Given the description of an element on the screen output the (x, y) to click on. 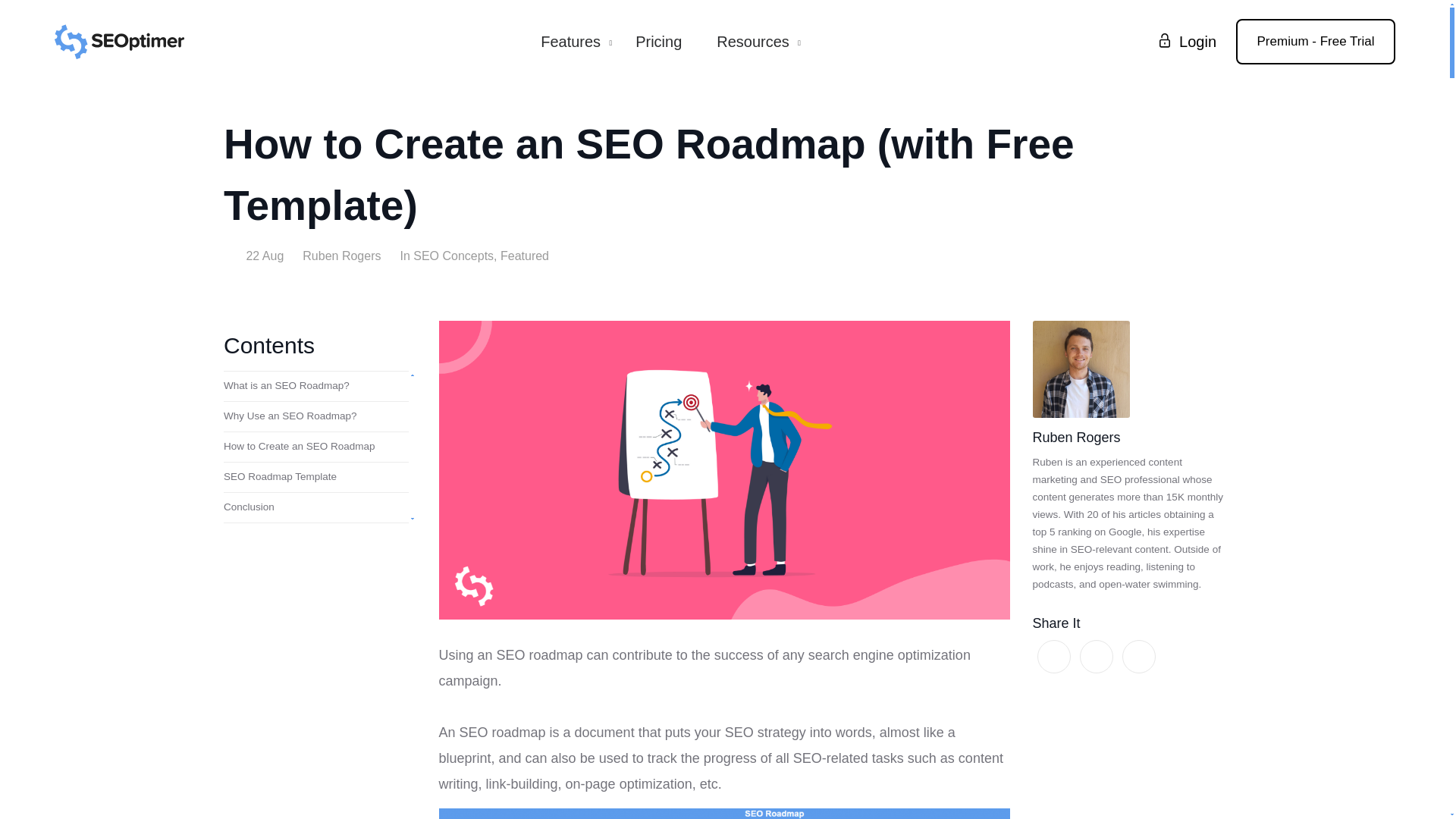
SEO Concepts (453, 256)
Pricing (657, 41)
Features (569, 41)
Premium - Free Trial (1315, 41)
What is an SEO Roadmap? (316, 386)
Why Use an SEO Roadmap?  (316, 417)
Featured (524, 256)
How to Create an SEO Roadmap (316, 447)
Ruben Rogers (341, 256)
Resources (752, 41)
Login (1181, 41)
